Given the description of an element on the screen output the (x, y) to click on. 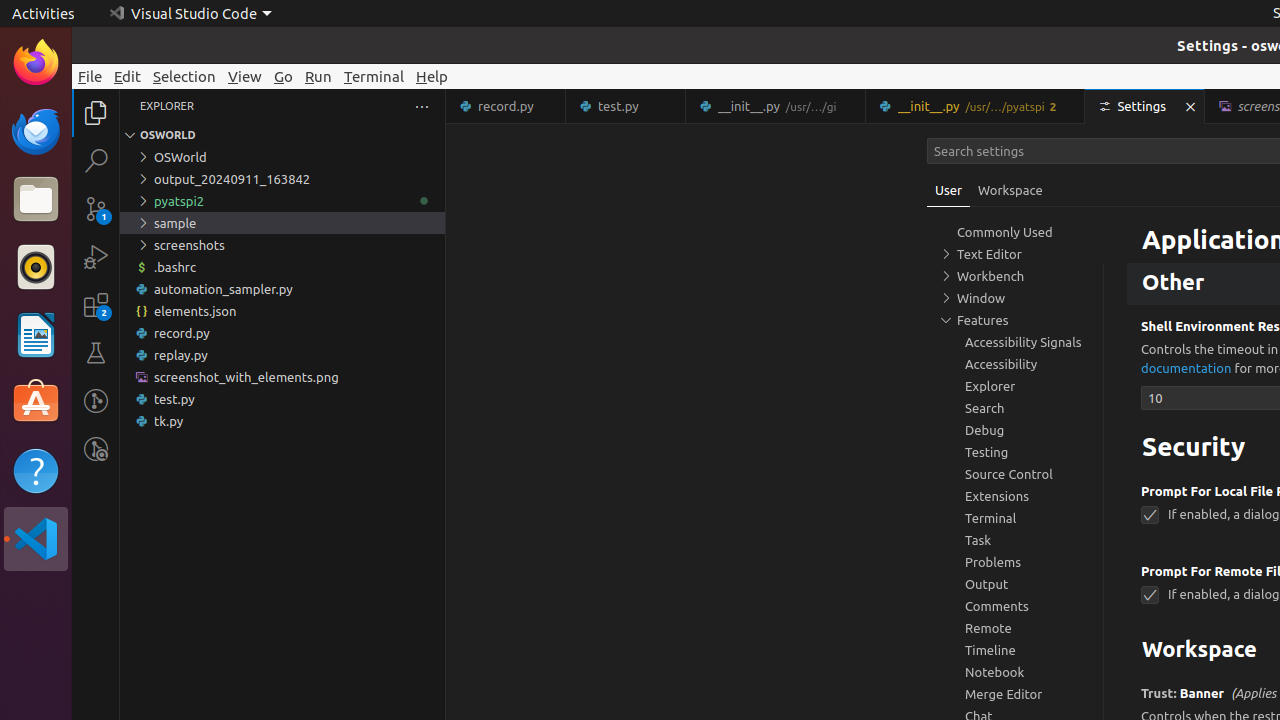
Output, group Element type: tree-item (1015, 584)
Source Control, group Element type: tree-item (1015, 474)
Features, group Element type: tree-item (1015, 320)
record.py Element type: page-tab (506, 106)
Comments, group Element type: tree-item (1015, 606)
